Given the description of an element on the screen output the (x, y) to click on. 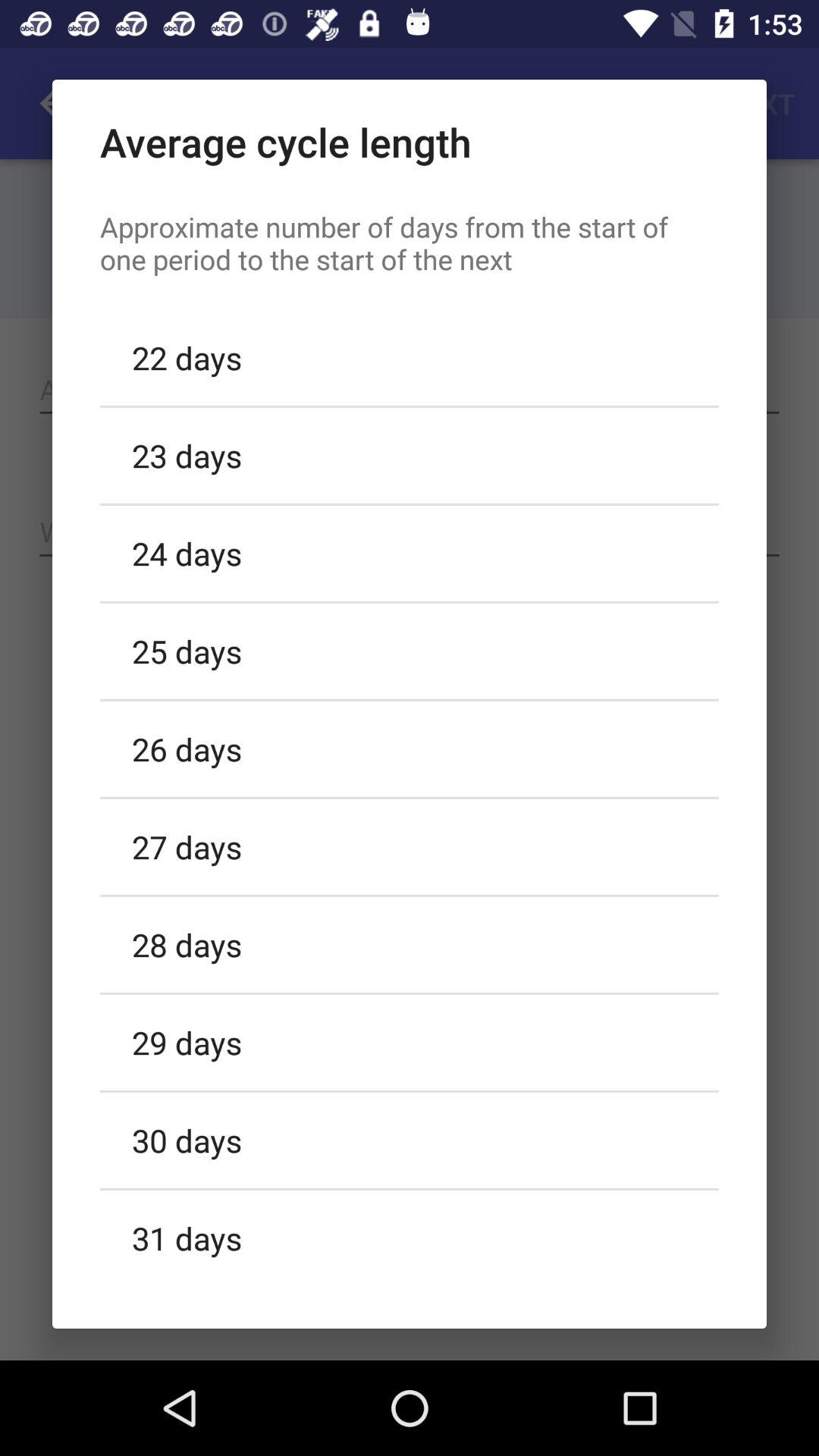
tap icon above 24 days icon (409, 455)
